Given the description of an element on the screen output the (x, y) to click on. 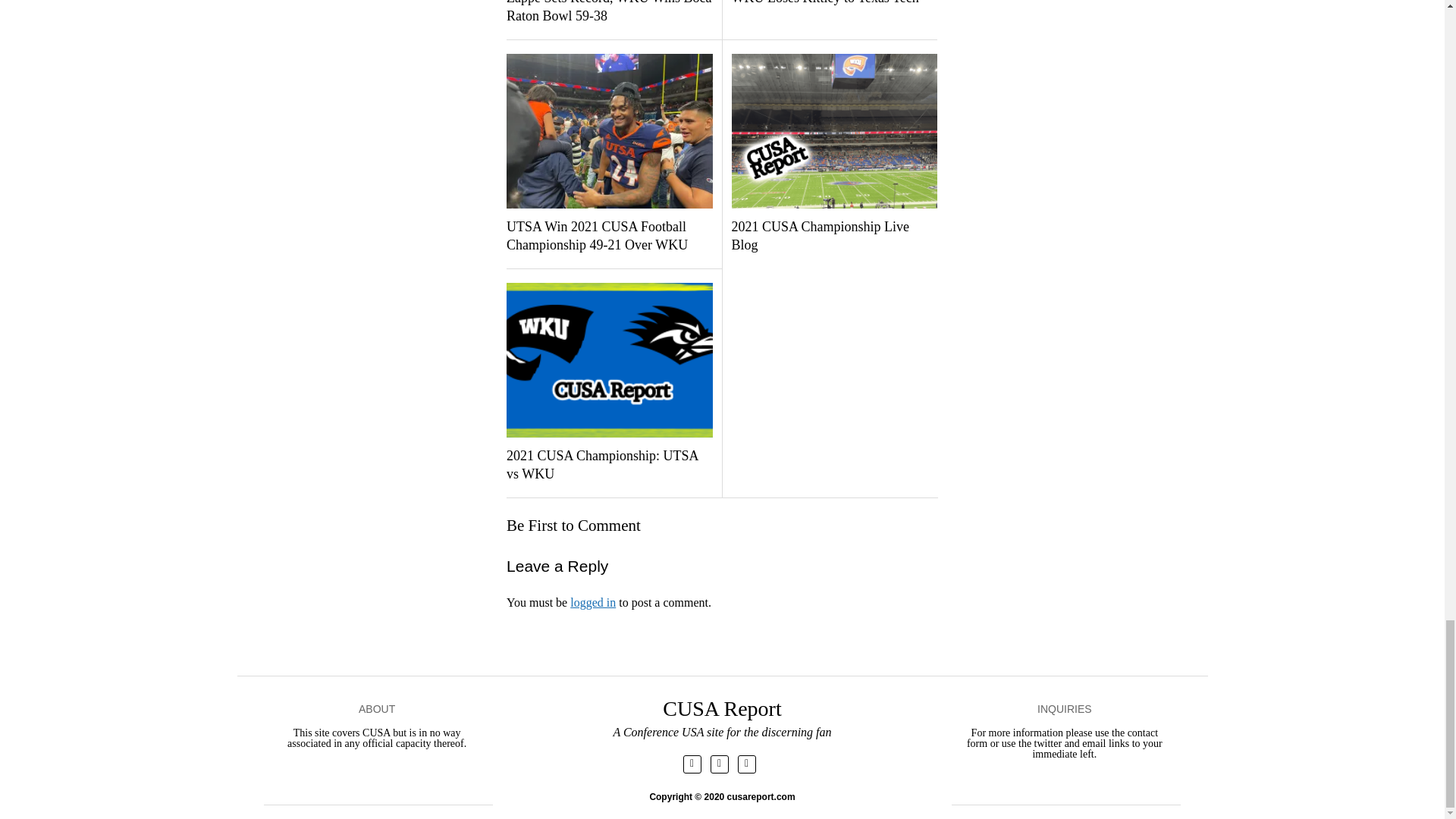
UTSA Win 2021 CUSA Football Championship 49-21 Over WKU (608, 236)
WKU Loses Kittley to Texas Tech (833, 3)
Zappe Sets Record, WKU Wins Boca Raton Bowl 59-38 (608, 12)
